Given the description of an element on the screen output the (x, y) to click on. 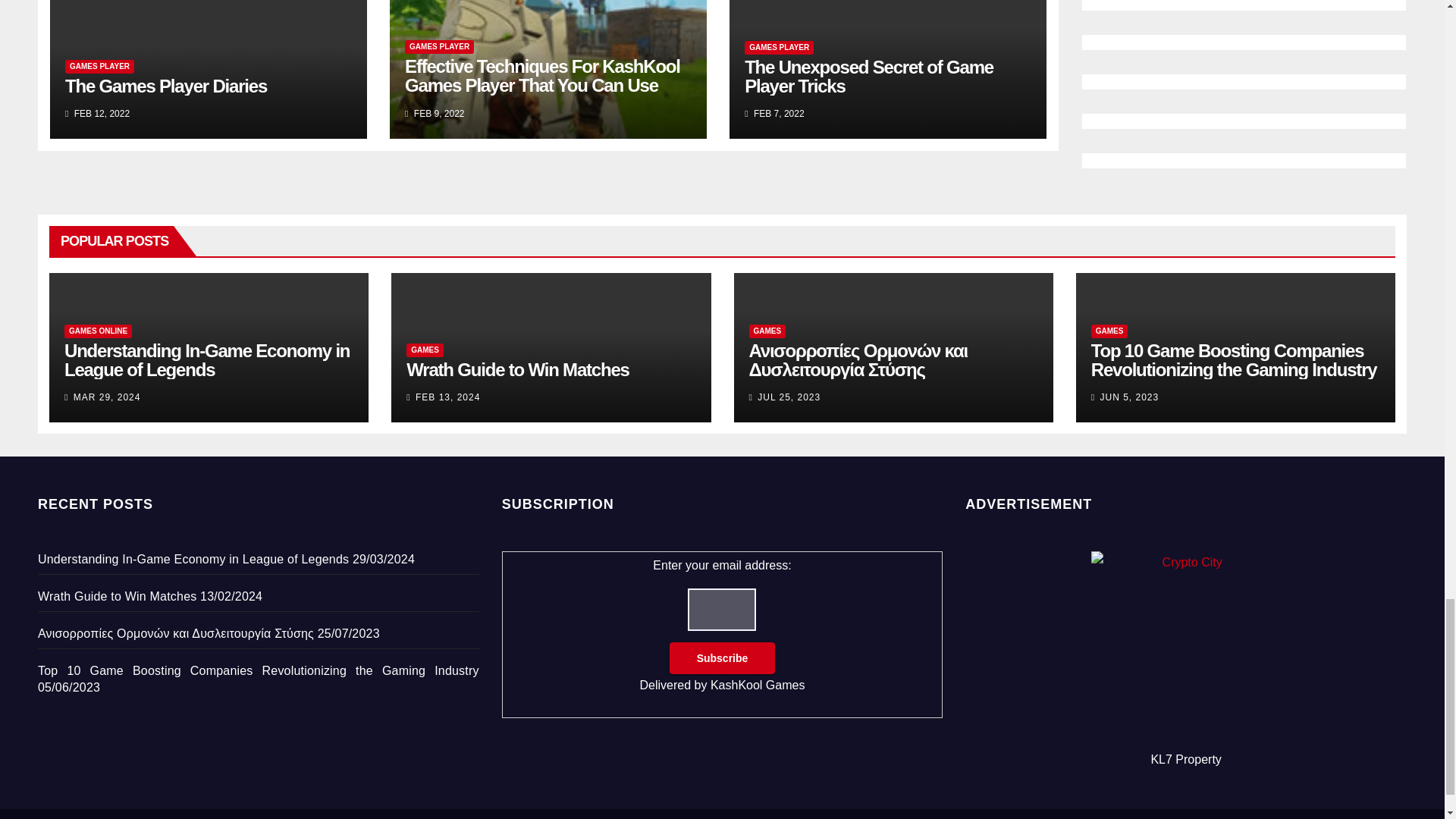
The Games Player Diaries (165, 86)
GAMES PLAYER (439, 47)
The Unexposed Secret of Game Player Tricks (868, 76)
Subscribe (722, 658)
Permalink to: The Unexposed Secret of Game Player Tricks (868, 76)
Permalink to: The Games Player Diaries (165, 86)
Permalink to: Wrath Guide to Win Matches (517, 369)
GAMES PLAYER (778, 47)
